Given the description of an element on the screen output the (x, y) to click on. 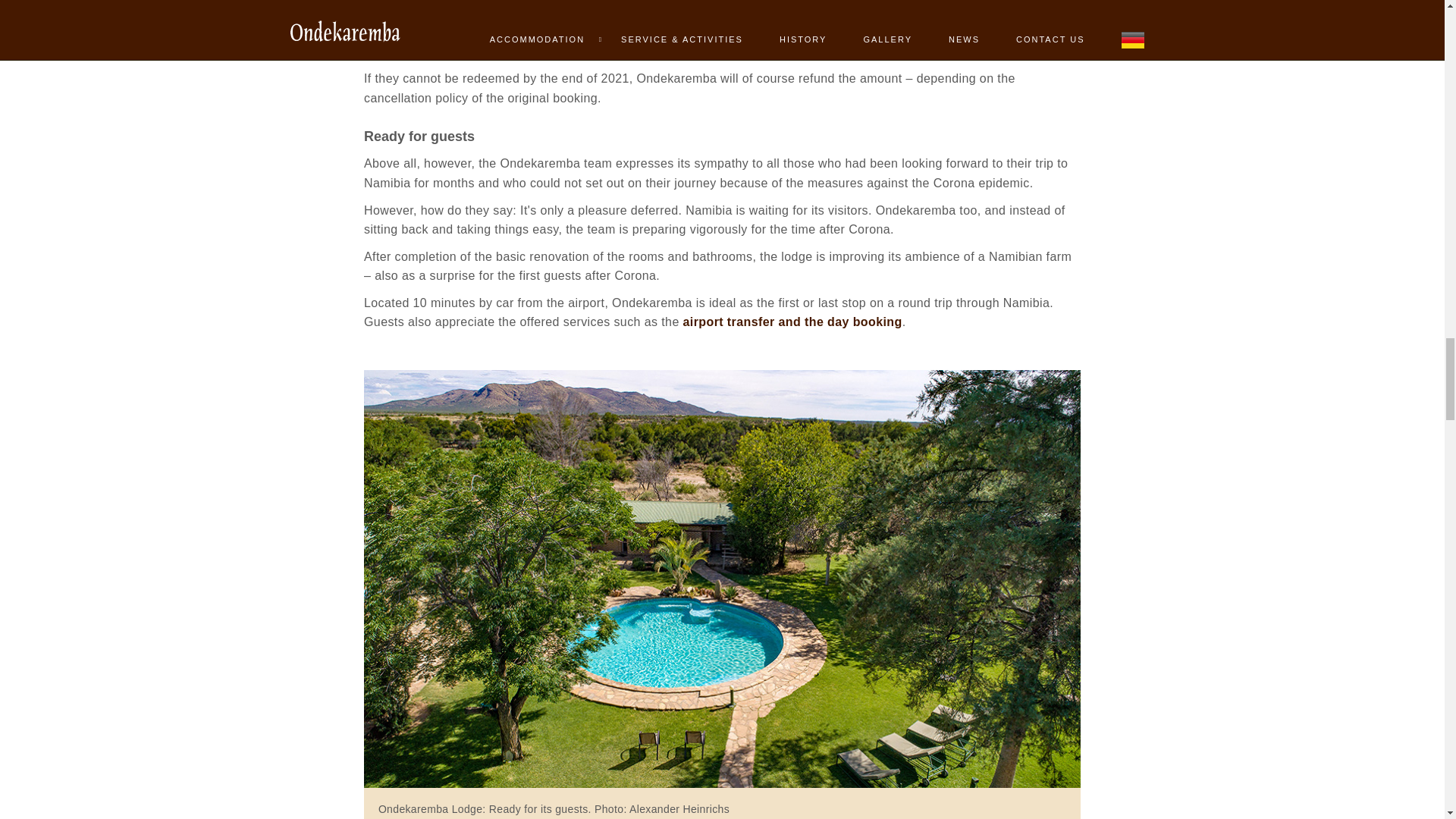
airport transfer and the day booking (792, 321)
